Given the description of an element on the screen output the (x, y) to click on. 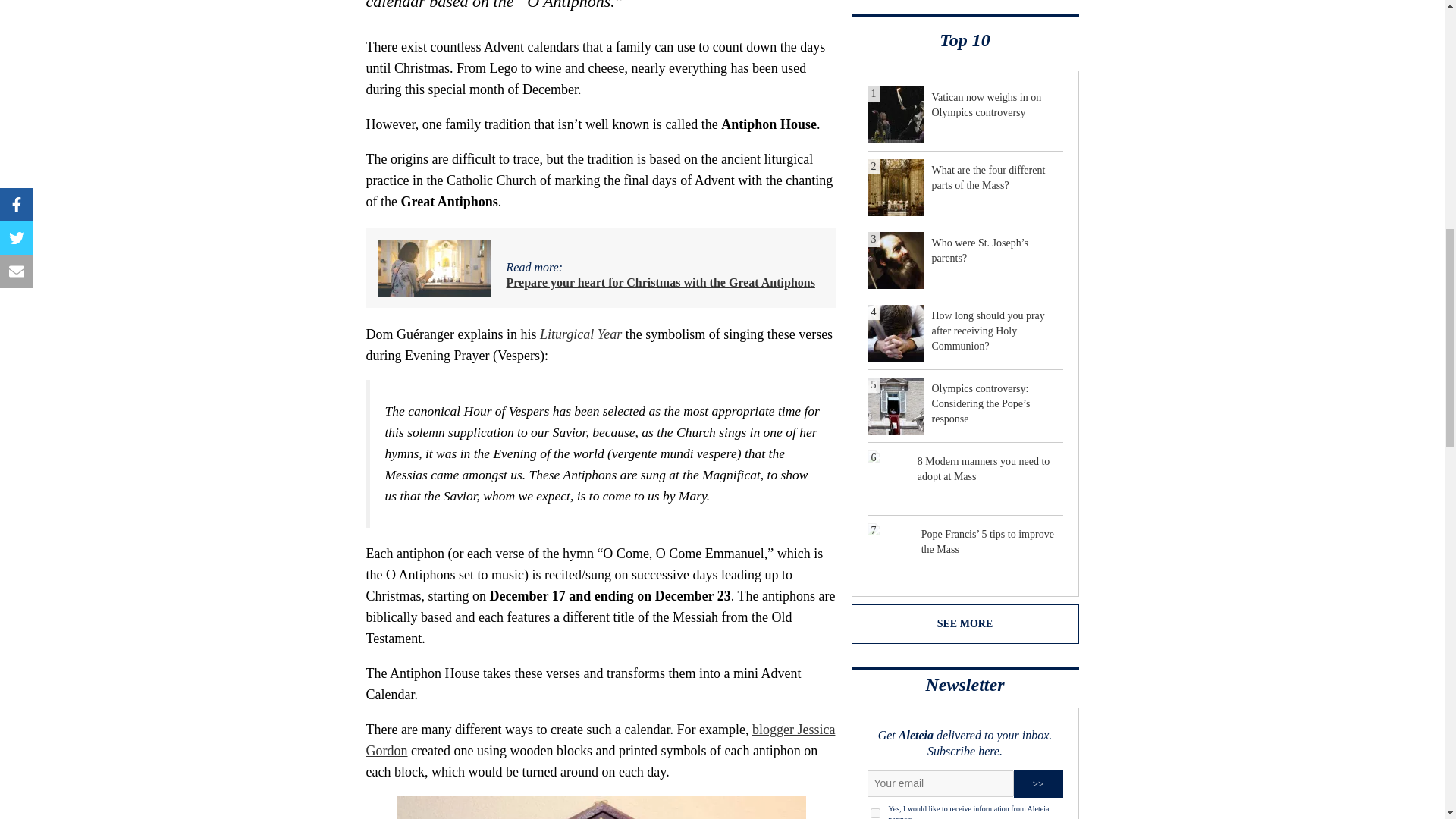
1 (875, 813)
Prepare your heart for Christmas with the Great Antiphons (660, 282)
Liturgical Year (580, 334)
